Given the description of an element on the screen output the (x, y) to click on. 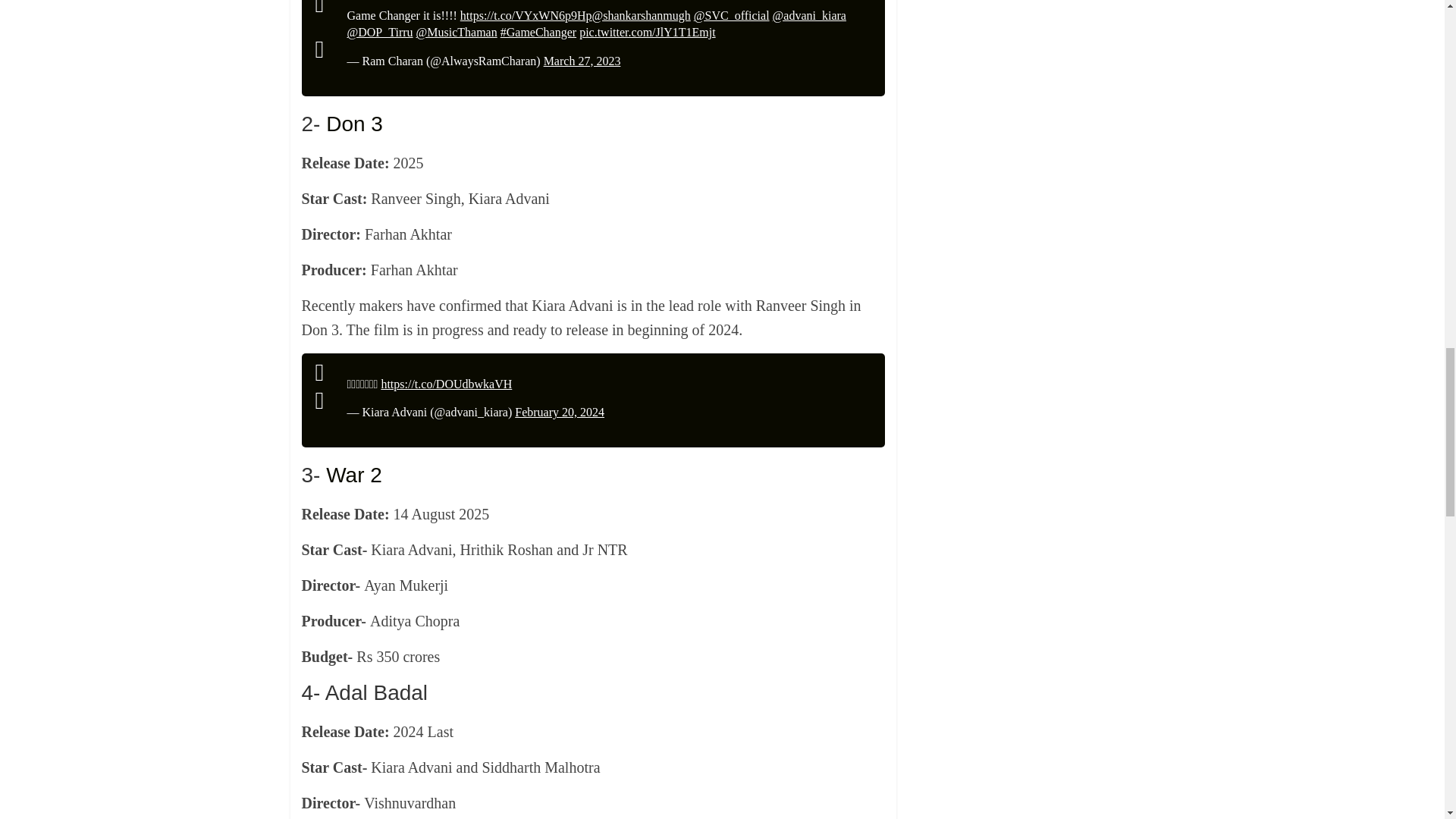
War 2 (353, 474)
Don 3 (354, 123)
February 20, 2024 (559, 411)
March 27, 2023 (582, 60)
